Given the description of an element on the screen output the (x, y) to click on. 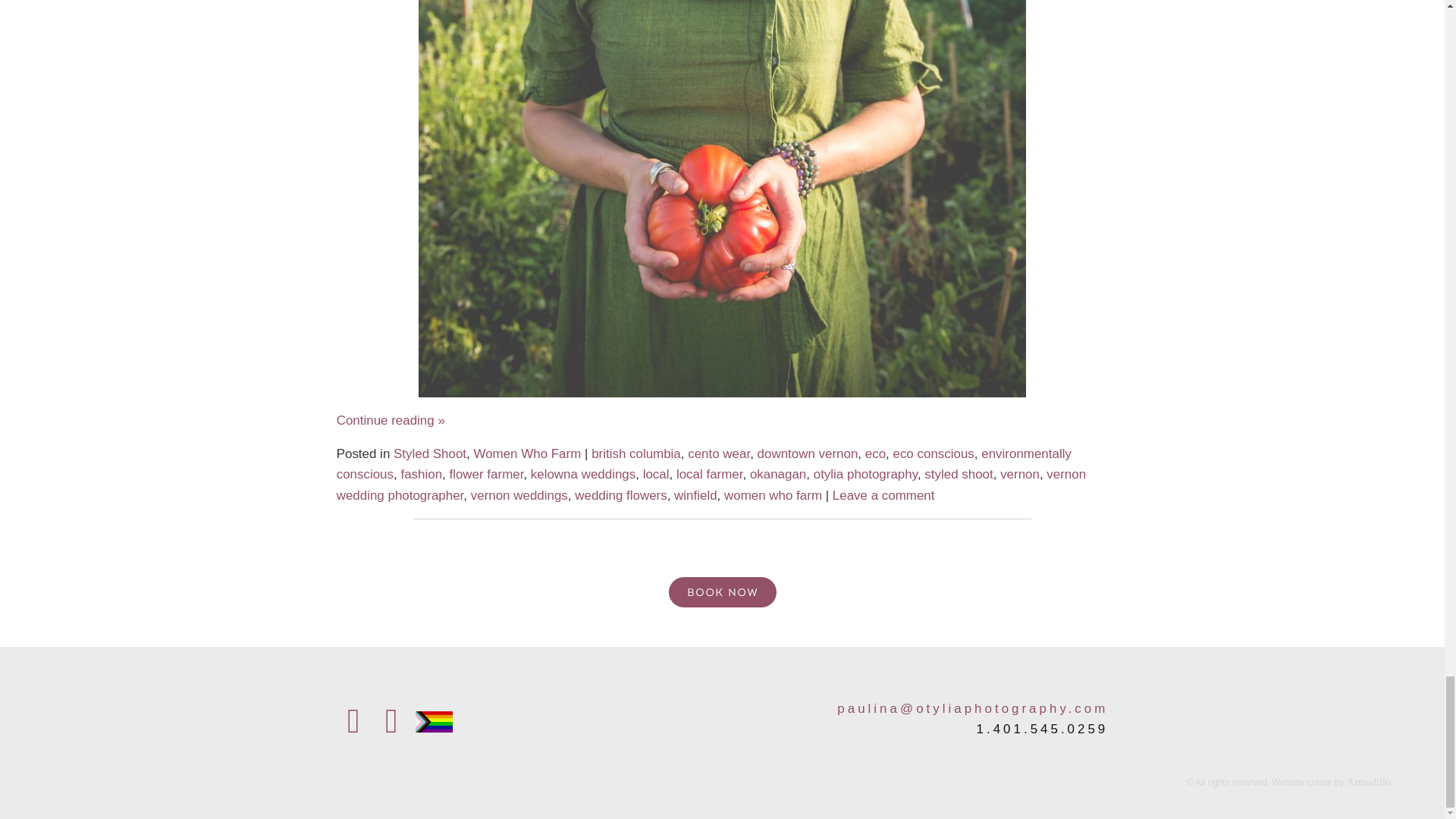
okanagan (777, 473)
british columbia (636, 453)
environmentally conscious (703, 463)
flower farmer (485, 473)
Styled Shoot (429, 453)
fashion (421, 473)
Women Who Farm (526, 453)
eco conscious (933, 453)
downtown vernon (808, 453)
styled shoot (958, 473)
kelowna weddings (582, 473)
local farmer (709, 473)
eco (874, 453)
local (656, 473)
otylia photography (865, 473)
